Given the description of an element on the screen output the (x, y) to click on. 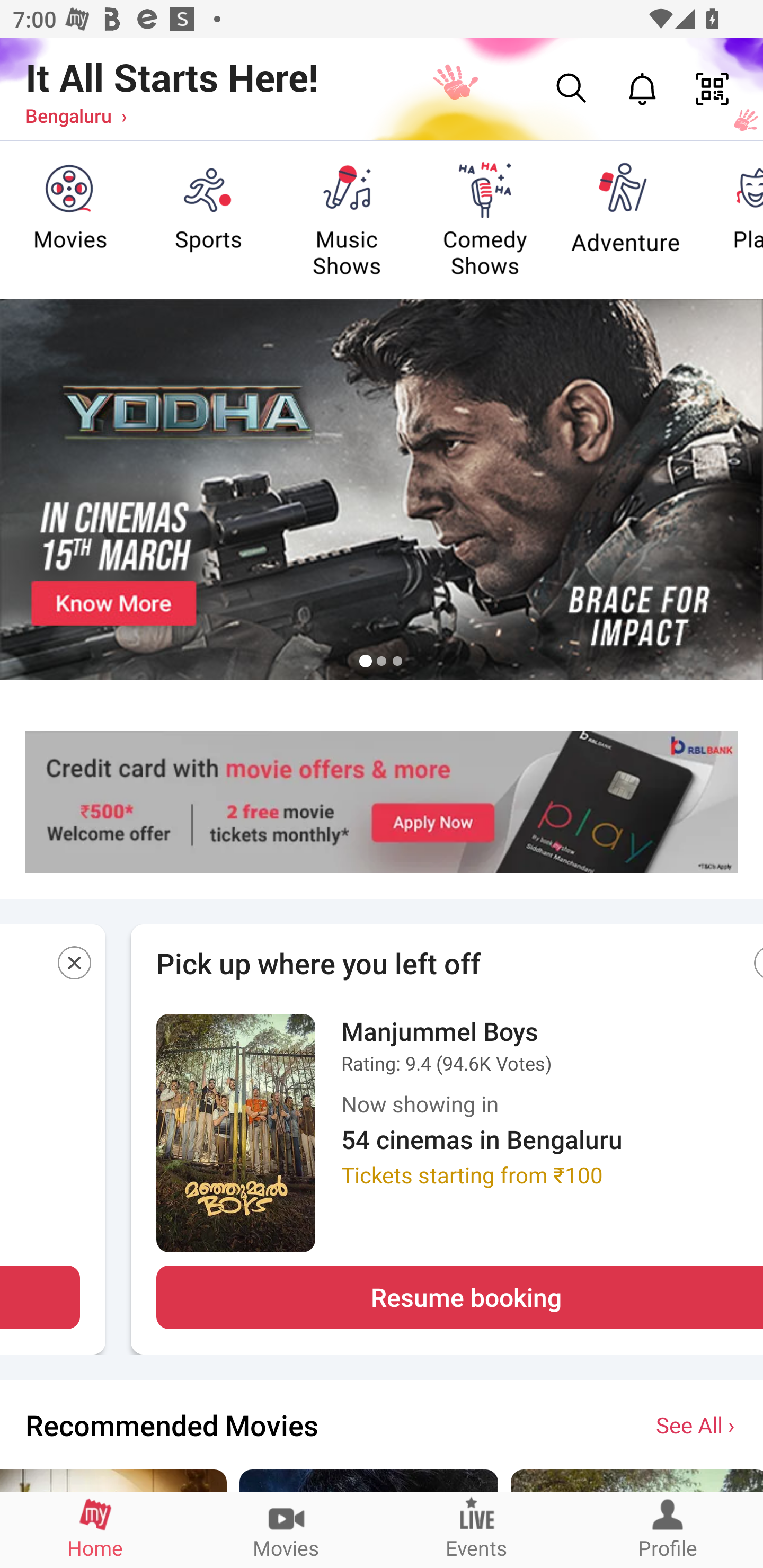
Bengaluru  › (76, 114)
  (75, 966)
Resume booking (459, 1297)
See All › (696, 1424)
Home (95, 1529)
Movies (285, 1529)
Events (476, 1529)
Profile (667, 1529)
